Given the description of an element on the screen output the (x, y) to click on. 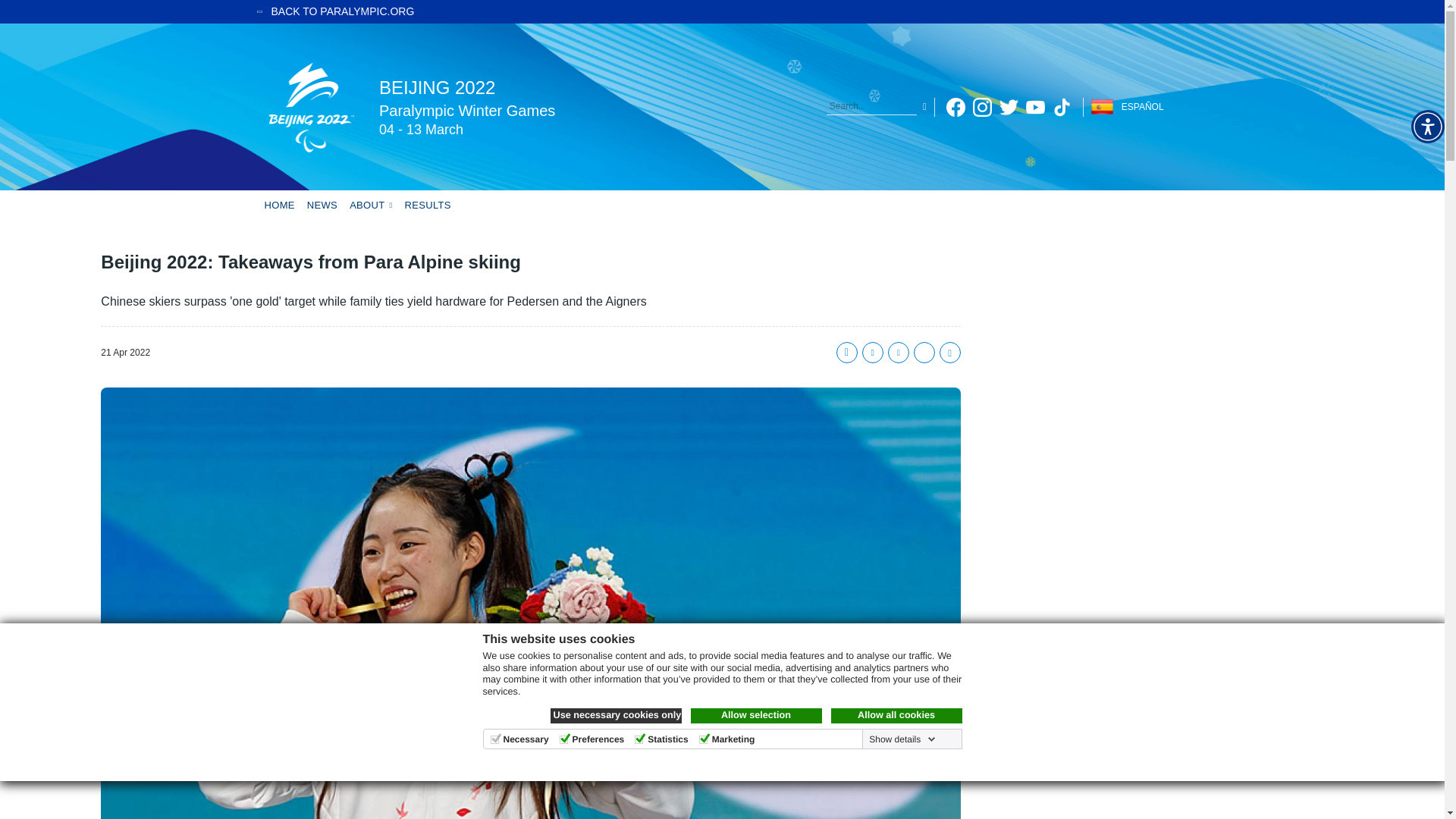
Allow all cookies (896, 715)
Show details (900, 739)
Use necessary cookies only (615, 715)
Allow selection (755, 715)
